Given the description of an element on the screen output the (x, y) to click on. 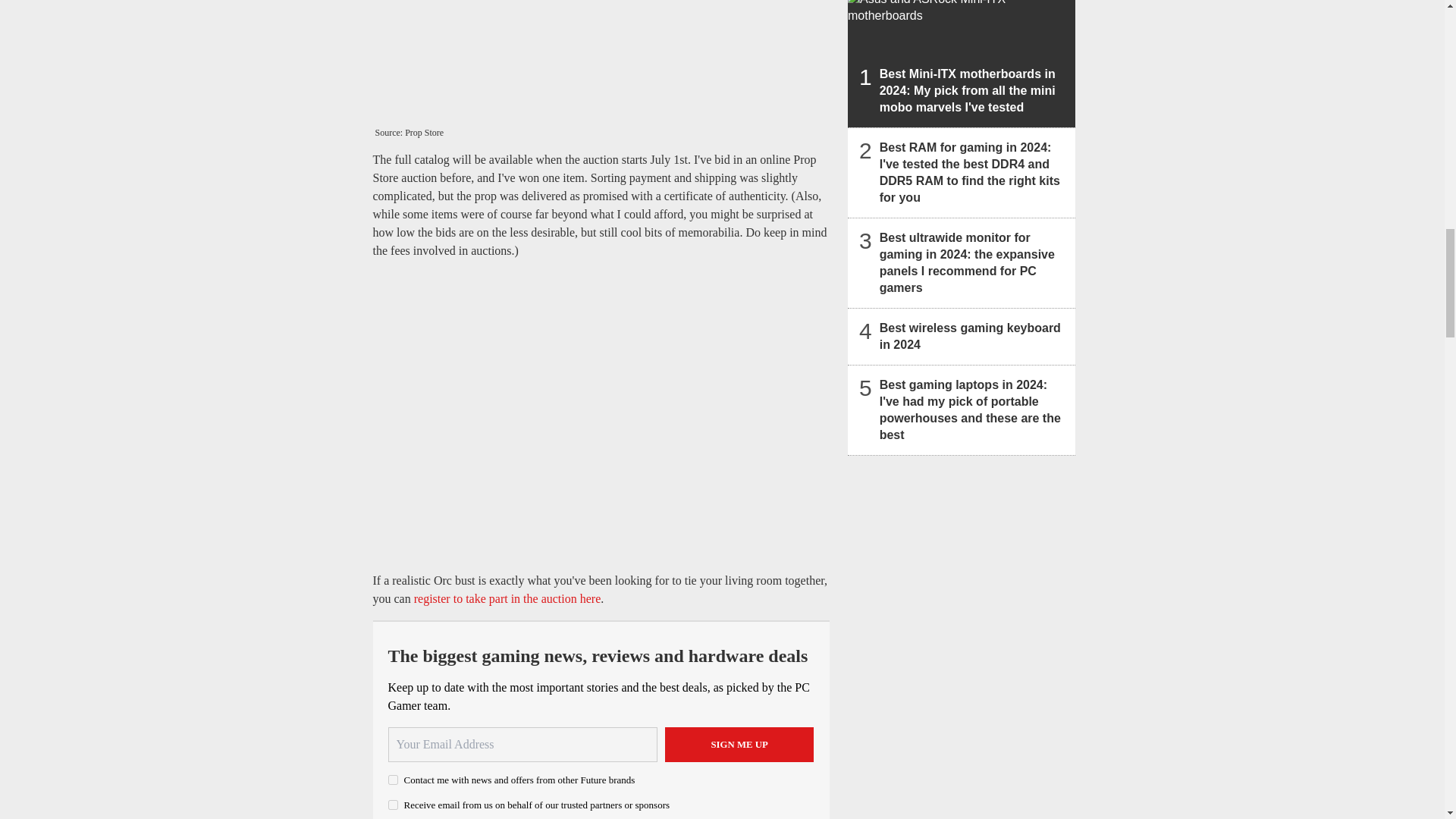
on (392, 779)
Sign me up (739, 744)
on (392, 804)
